Given the description of an element on the screen output the (x, y) to click on. 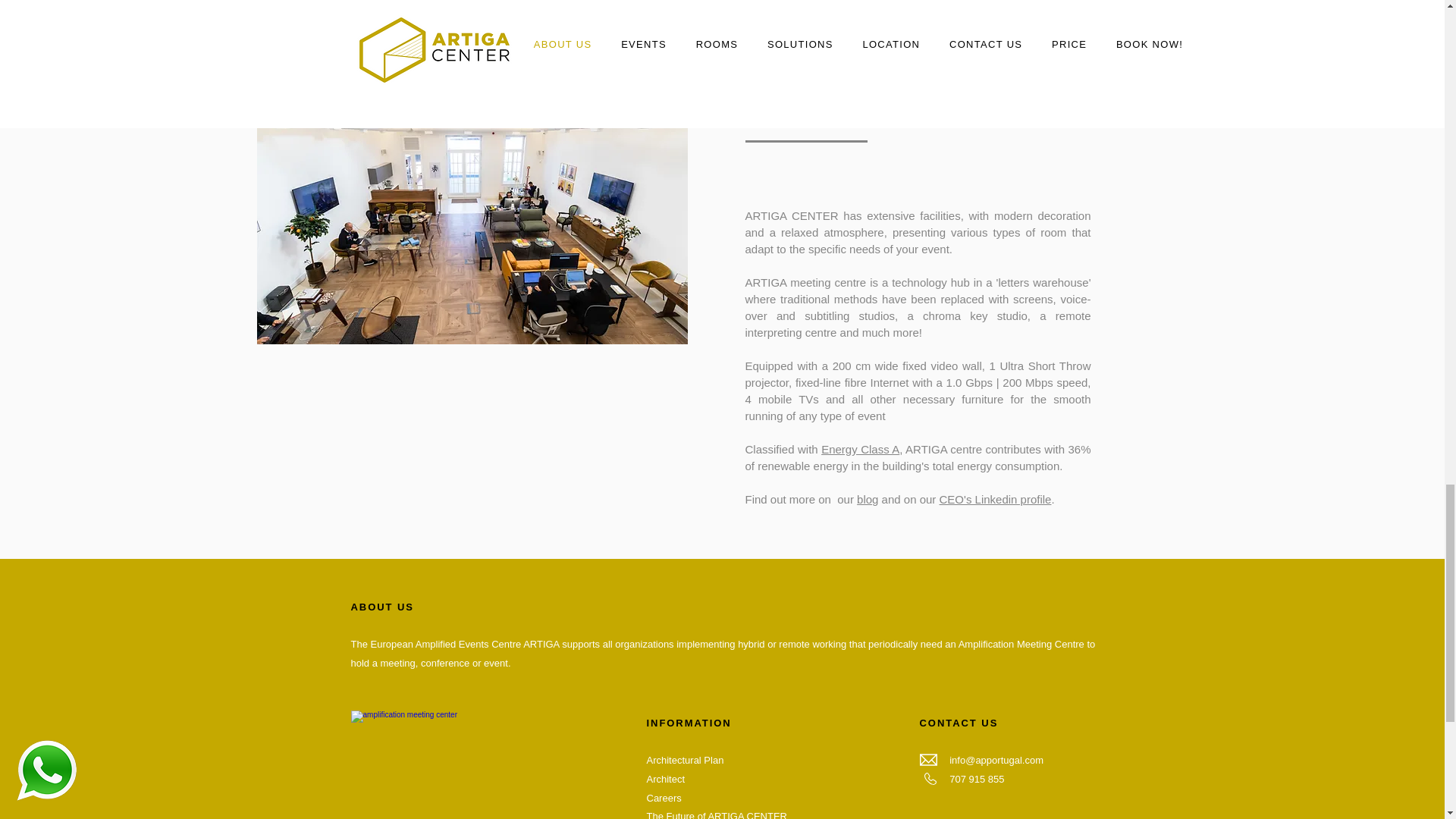
blog (867, 499)
CEO's Linkedin profile (995, 499)
Energy Class A (860, 449)
